Given the description of an element on the screen output the (x, y) to click on. 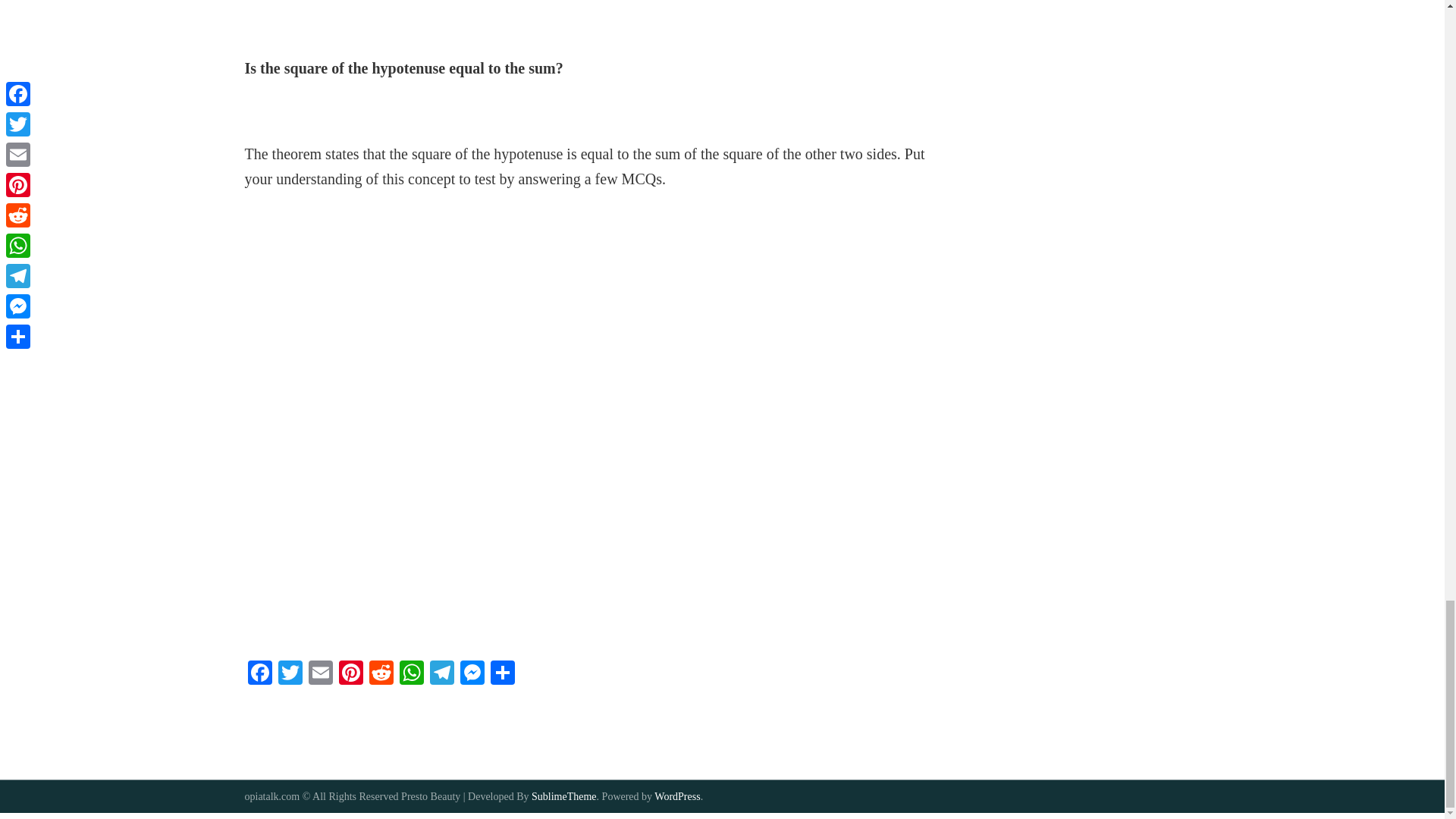
Facebook (259, 674)
Twitter (289, 674)
WhatsApp (411, 674)
Reddit (380, 674)
Pinterest (349, 674)
Telegram (441, 674)
Email (319, 674)
Messenger (471, 674)
Facebook (259, 674)
